Given the description of an element on the screen output the (x, y) to click on. 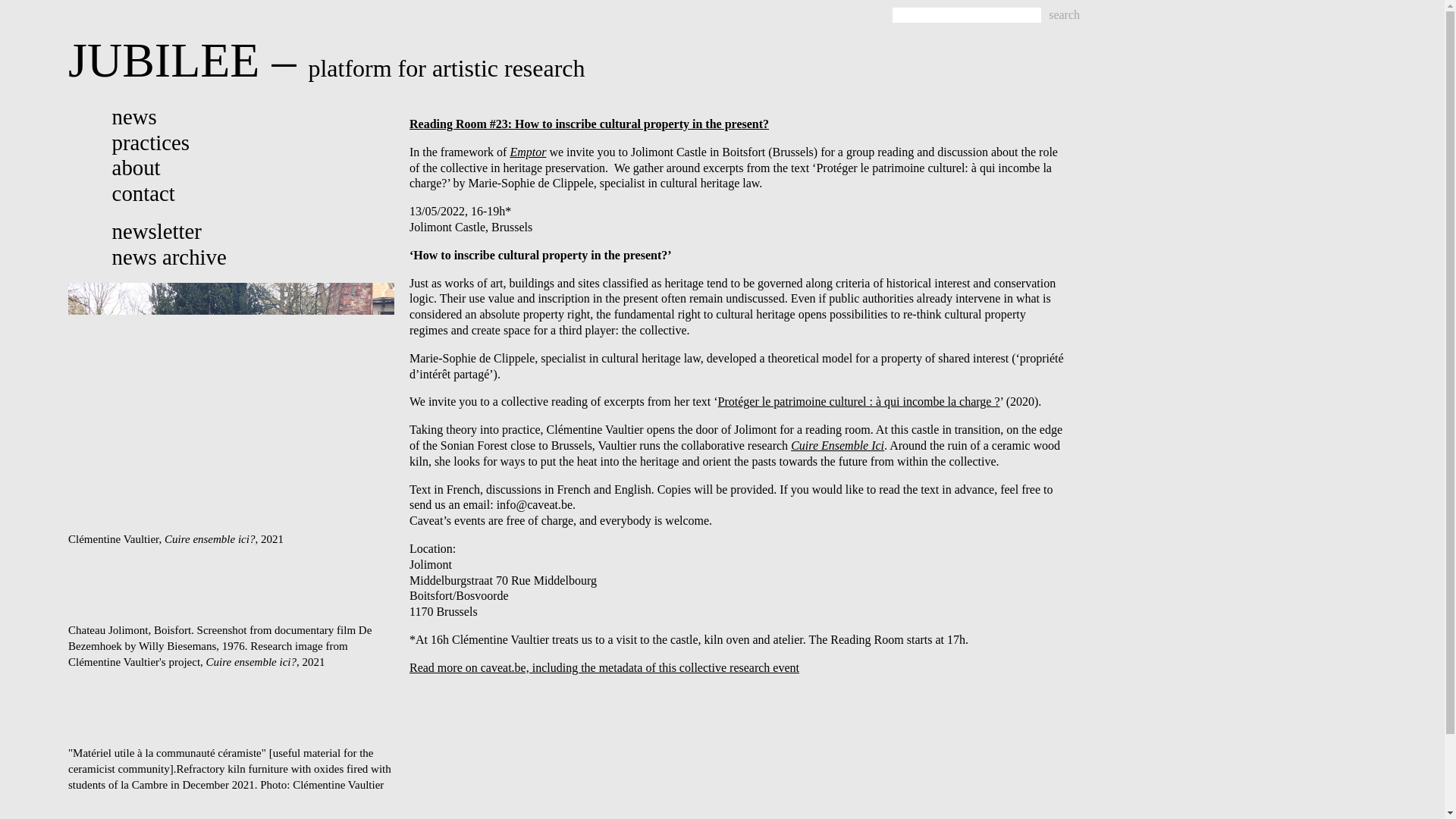
Emptor (527, 151)
about (136, 167)
news (134, 116)
search (1063, 14)
search (1063, 14)
Cuire Ensemble Ici (836, 445)
news archive (169, 256)
JUBILEE (163, 59)
contact (143, 192)
